Given the description of an element on the screen output the (x, y) to click on. 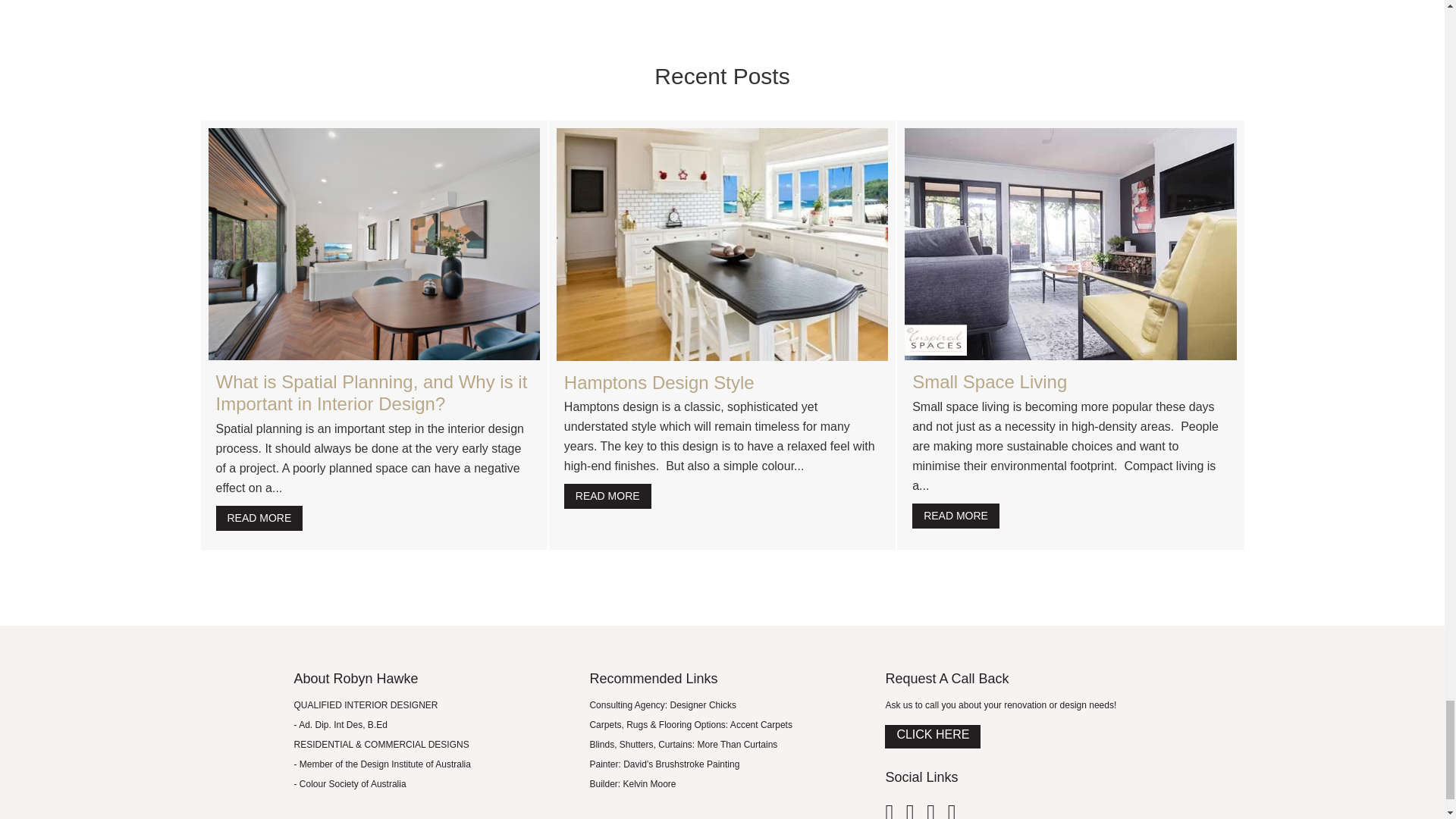
Small Space Living (955, 515)
PernnyGranny 1 -8 (373, 243)
hampton-kitchen-2-twin-creeks (722, 243)
Hamptons Design Style (607, 496)
Hamptons Design Style (659, 382)
Living room after renovation (1070, 243)
Small Space Living (989, 381)
